Given the description of an element on the screen output the (x, y) to click on. 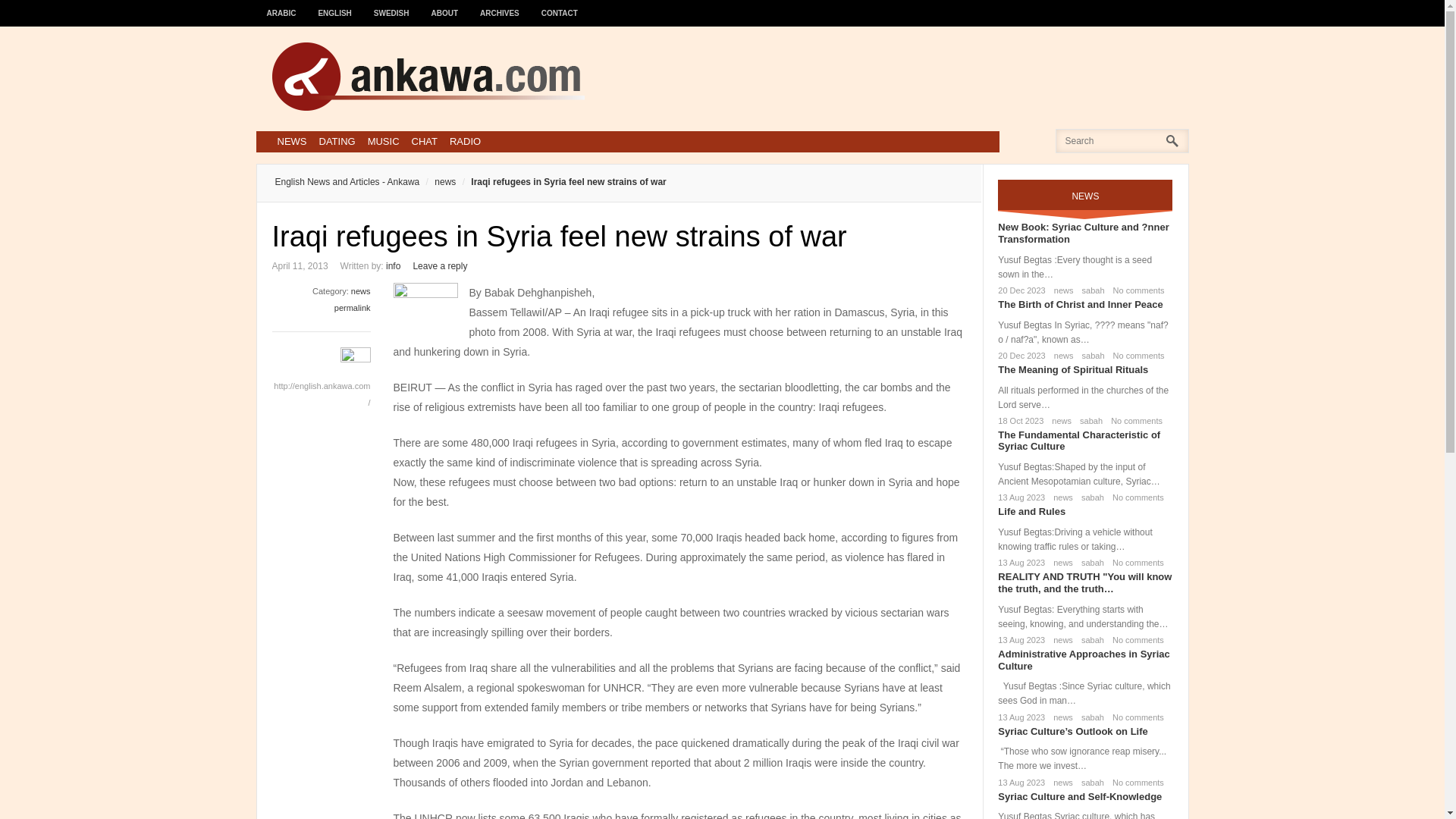
MUSIC (383, 141)
SWEDISH (391, 5)
Permalink to Iraqi refugees in Syria feel new strains of war (352, 307)
sabah (1088, 420)
ABOUT (445, 5)
news (360, 290)
The Meaning of Spiritual Rituals (1072, 369)
CHAT (425, 141)
sabah (1090, 289)
Life and Rules (1031, 511)
Search (35, 15)
sabah (1090, 355)
No comments (1135, 355)
Life and Rules (1031, 511)
RADIO (465, 141)
